Given the description of an element on the screen output the (x, y) to click on. 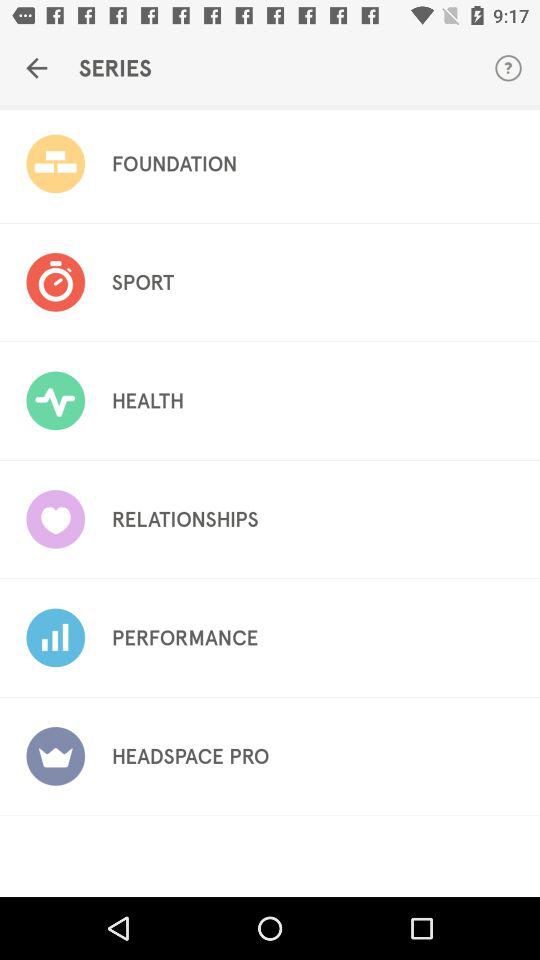
turn on the item above performance (184, 519)
